Given the description of an element on the screen output the (x, y) to click on. 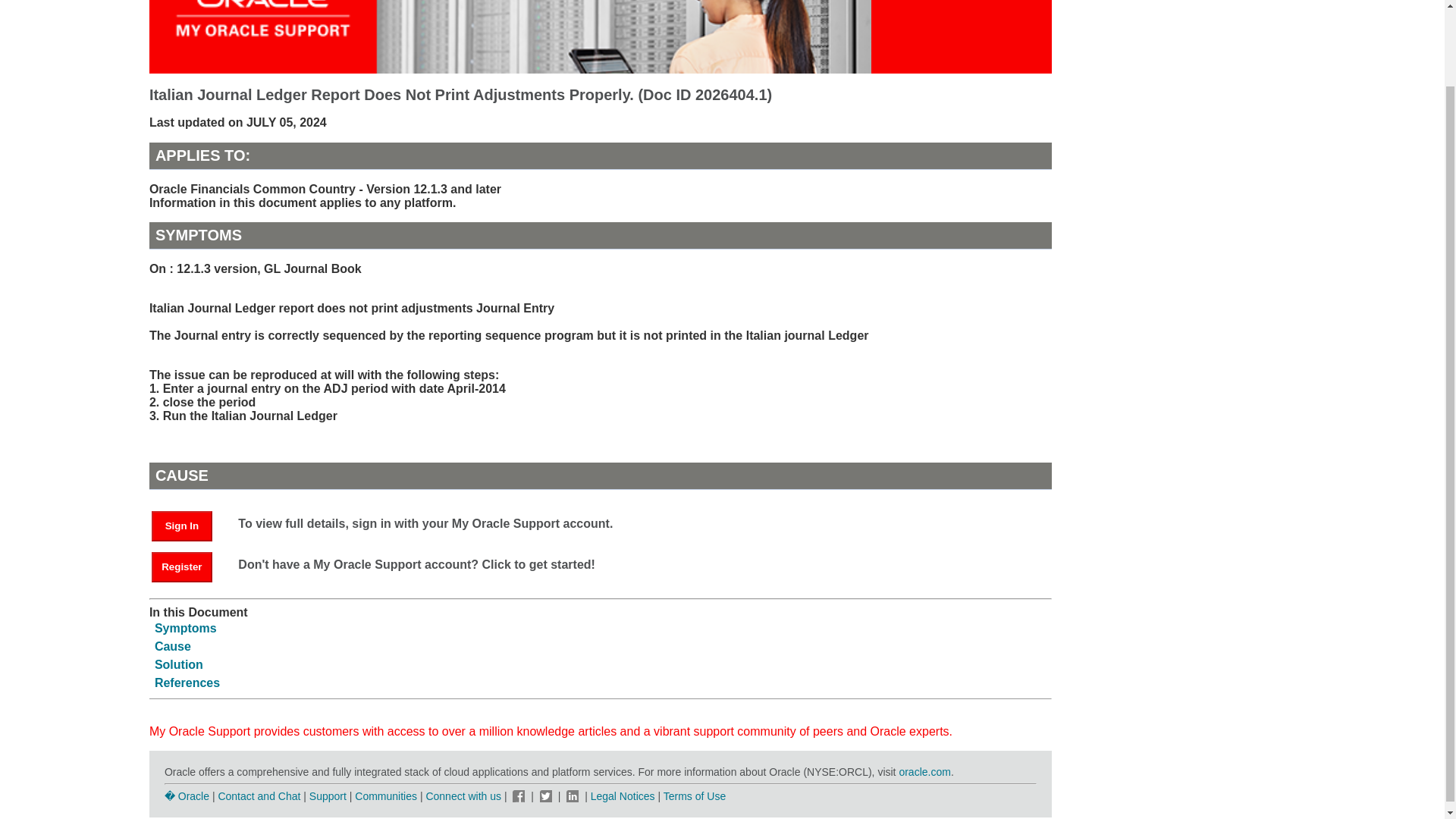
Contact and Chat (257, 796)
Sign In (189, 524)
Symptoms (185, 627)
Sign In (181, 526)
Communities (385, 796)
oracle.com (924, 771)
References (186, 682)
Solution (178, 664)
Connect with us (464, 796)
Terms of Use (694, 796)
